Given the description of an element on the screen output the (x, y) to click on. 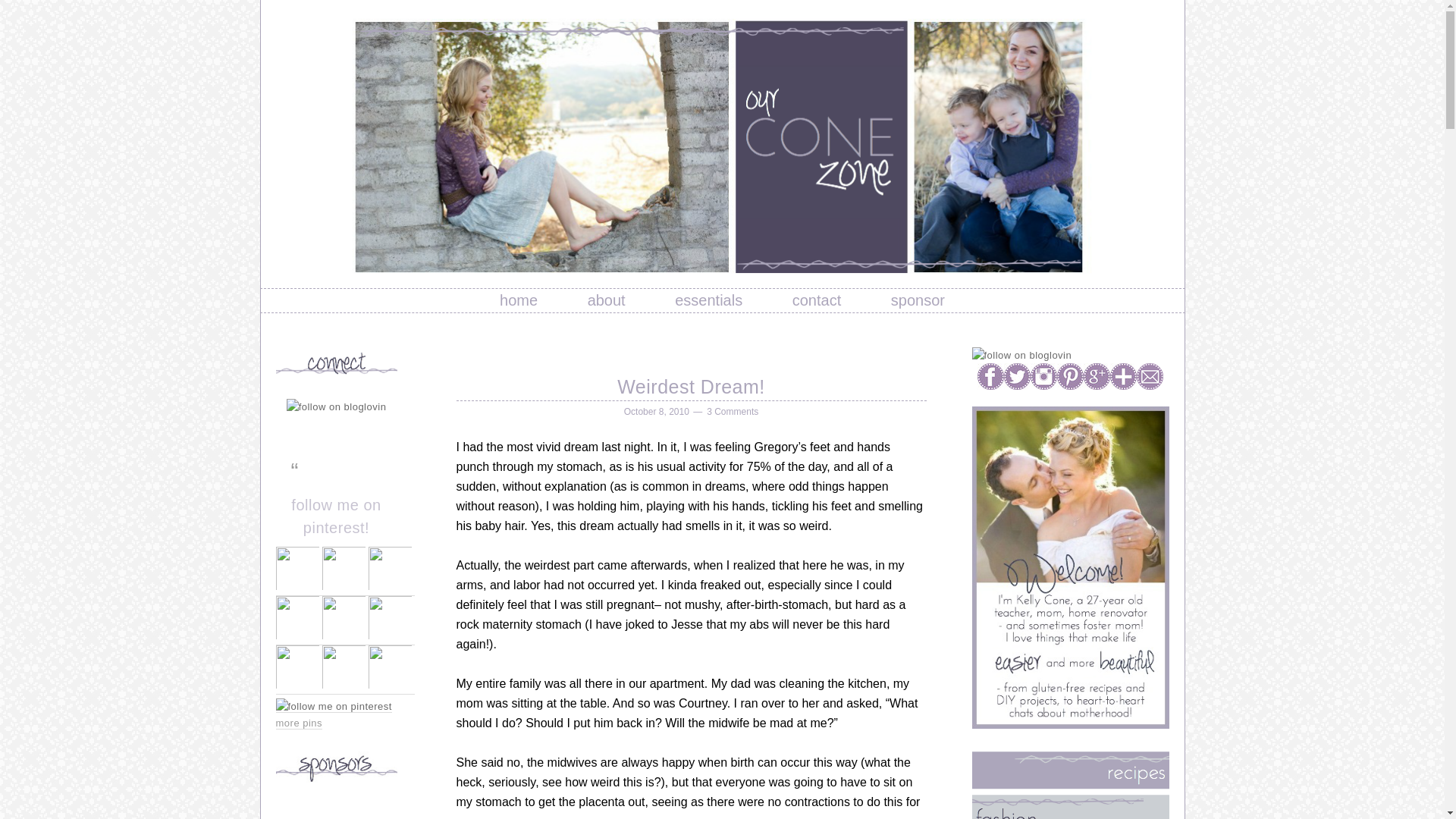
sponsor (917, 300)
about (605, 300)
essentials (708, 300)
Follow Our Cone Zone on Bloglovin (1021, 354)
3 Comments (732, 411)
home (518, 300)
contact (816, 300)
